Given the description of an element on the screen output the (x, y) to click on. 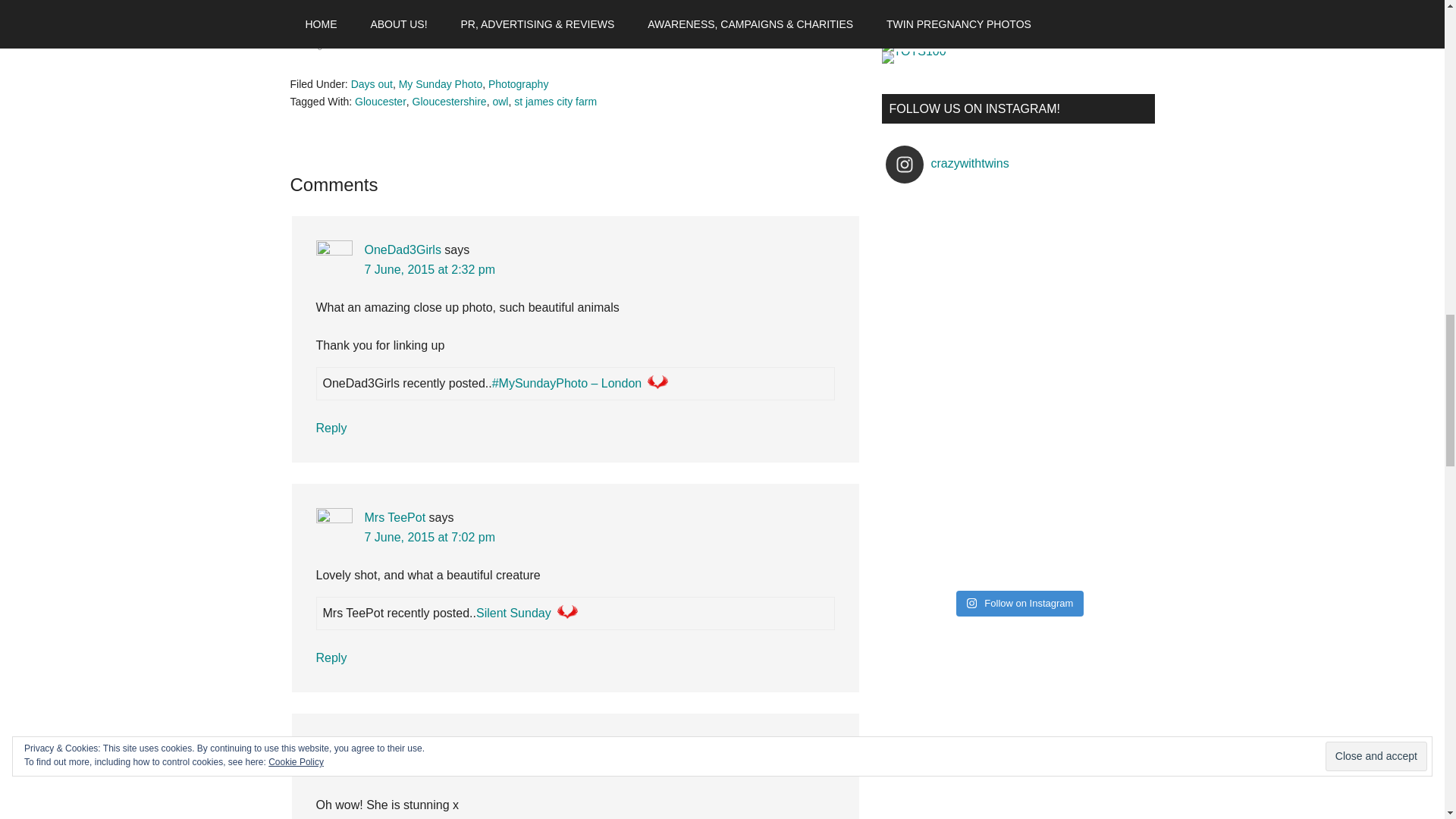
owl (500, 101)
Photography (517, 83)
Brilliance in Blogging (981, 29)
Days out (371, 83)
TOTS 100 - UK Parent Blogs (943, 38)
My Sunday Photo (440, 83)
Gloucester (380, 101)
Brilliance in Blogging (984, 9)
Gloucestershire (449, 101)
